Given the description of an element on the screen output the (x, y) to click on. 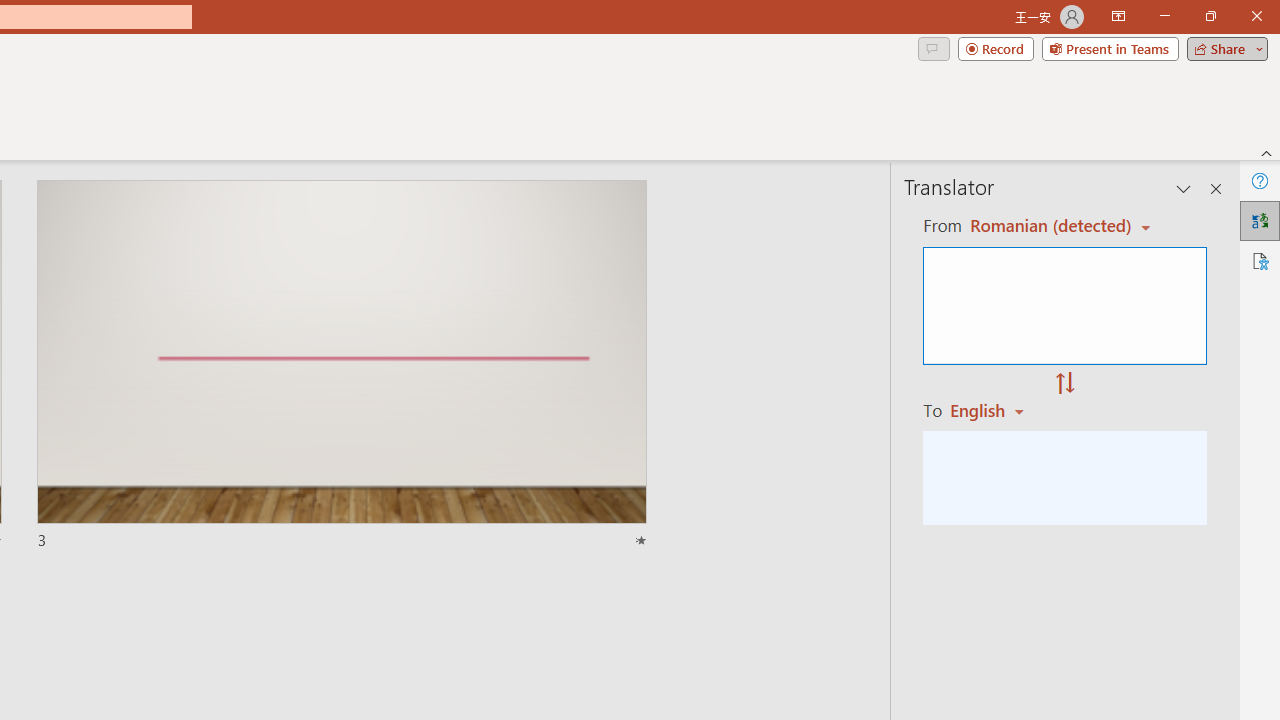
Romanian (994, 409)
